Given the description of an element on the screen output the (x, y) to click on. 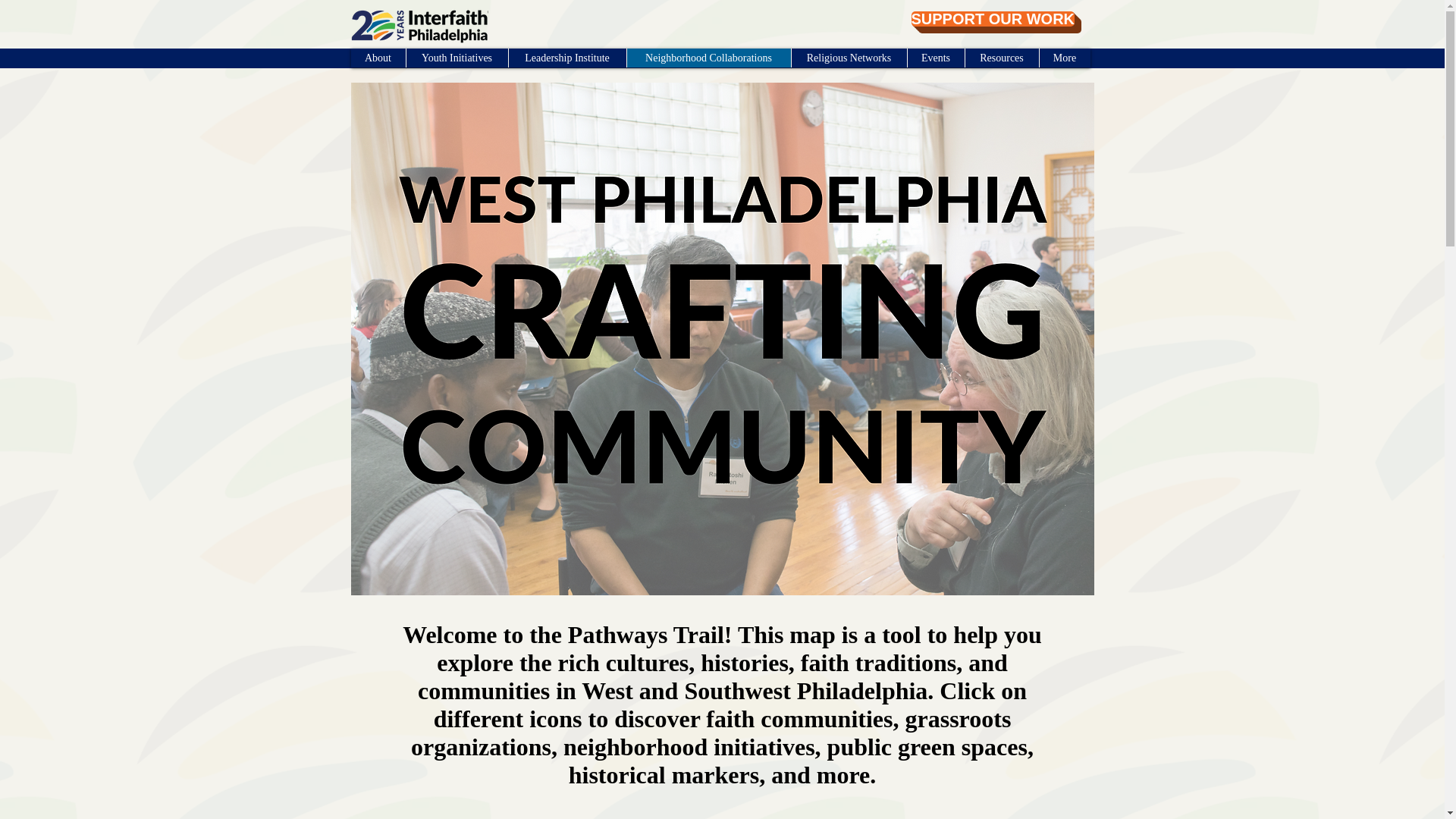
Youth Initiatives (455, 57)
Neighborhood Collaborations (708, 57)
About (377, 57)
Religious Networks (847, 57)
Leadership Institute (567, 57)
SUPPORT OUR WORK (993, 18)
